Given the description of an element on the screen output the (x, y) to click on. 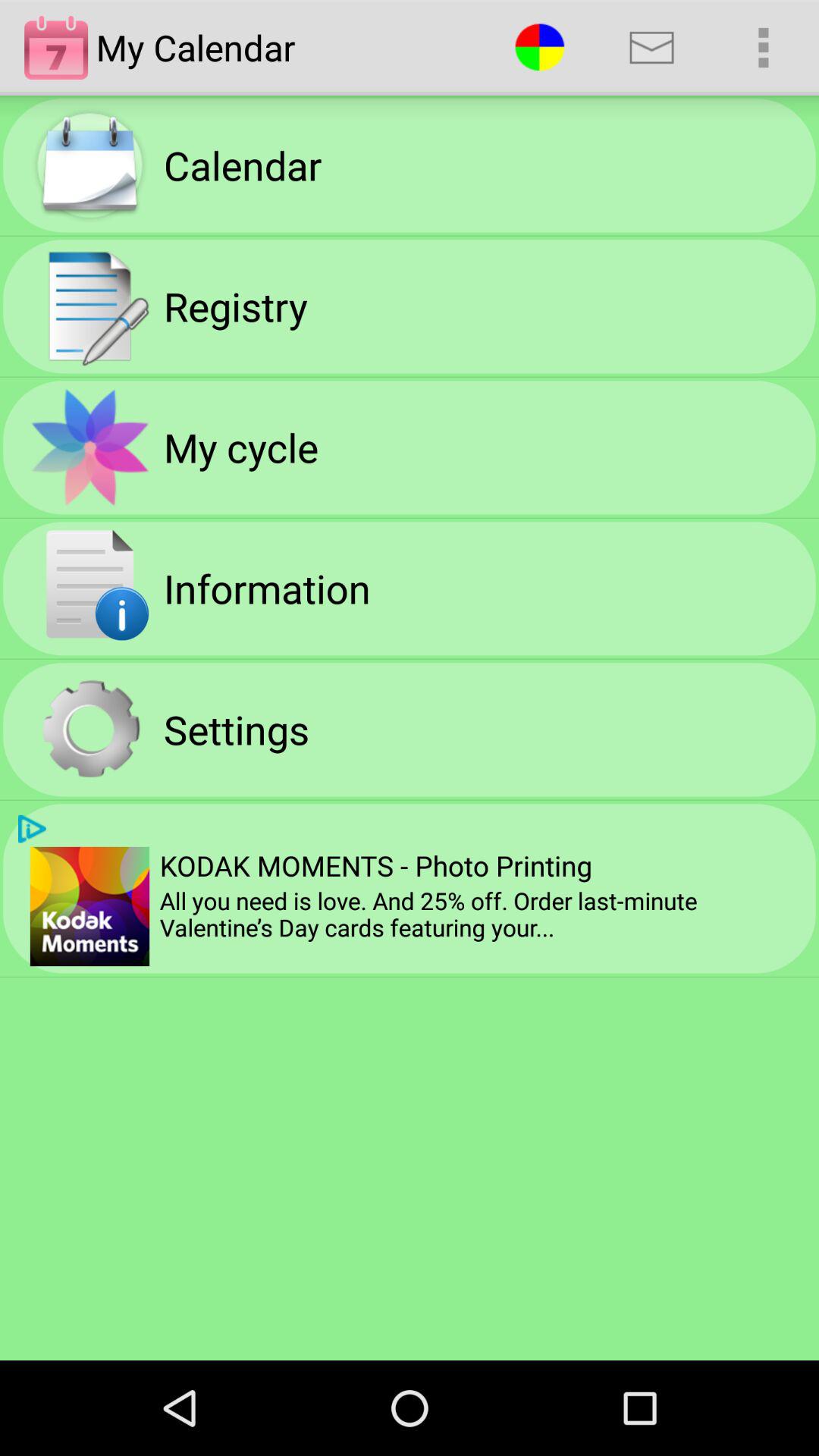
press the icon below calendar item (235, 305)
